Given the description of an element on the screen output the (x, y) to click on. 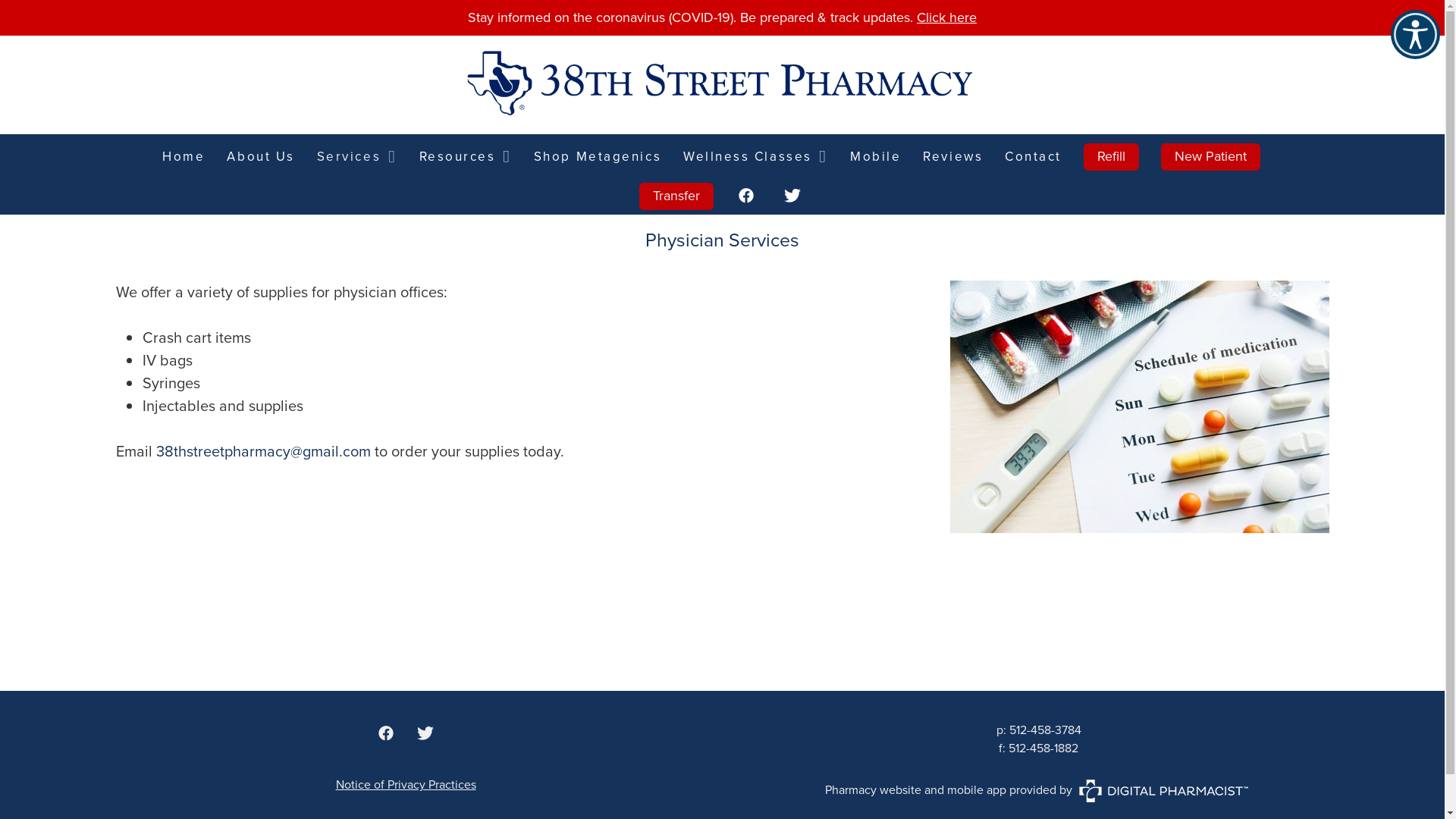
Refill Element type: text (1111, 156)
Mobile Element type: text (875, 156)
Transfer Element type: text (676, 196)
Pharmacy website and mobile app Element type: text (915, 789)
Contact Element type: text (1032, 156)
New Patient Element type: text (1210, 156)
Home Element type: text (183, 156)
Digital Pharmacist Element type: hover (1163, 790)
38th Street Pharmacy Element type: hover (722, 84)
38thstreetpharmacy@gmail.com Element type: text (263, 450)
Shop Metagenics Element type: text (597, 156)
Reviews Element type: text (952, 156)
Notice of Privacy Practices Element type: text (405, 784)
About Us Element type: text (260, 156)
